Given the description of an element on the screen output the (x, y) to click on. 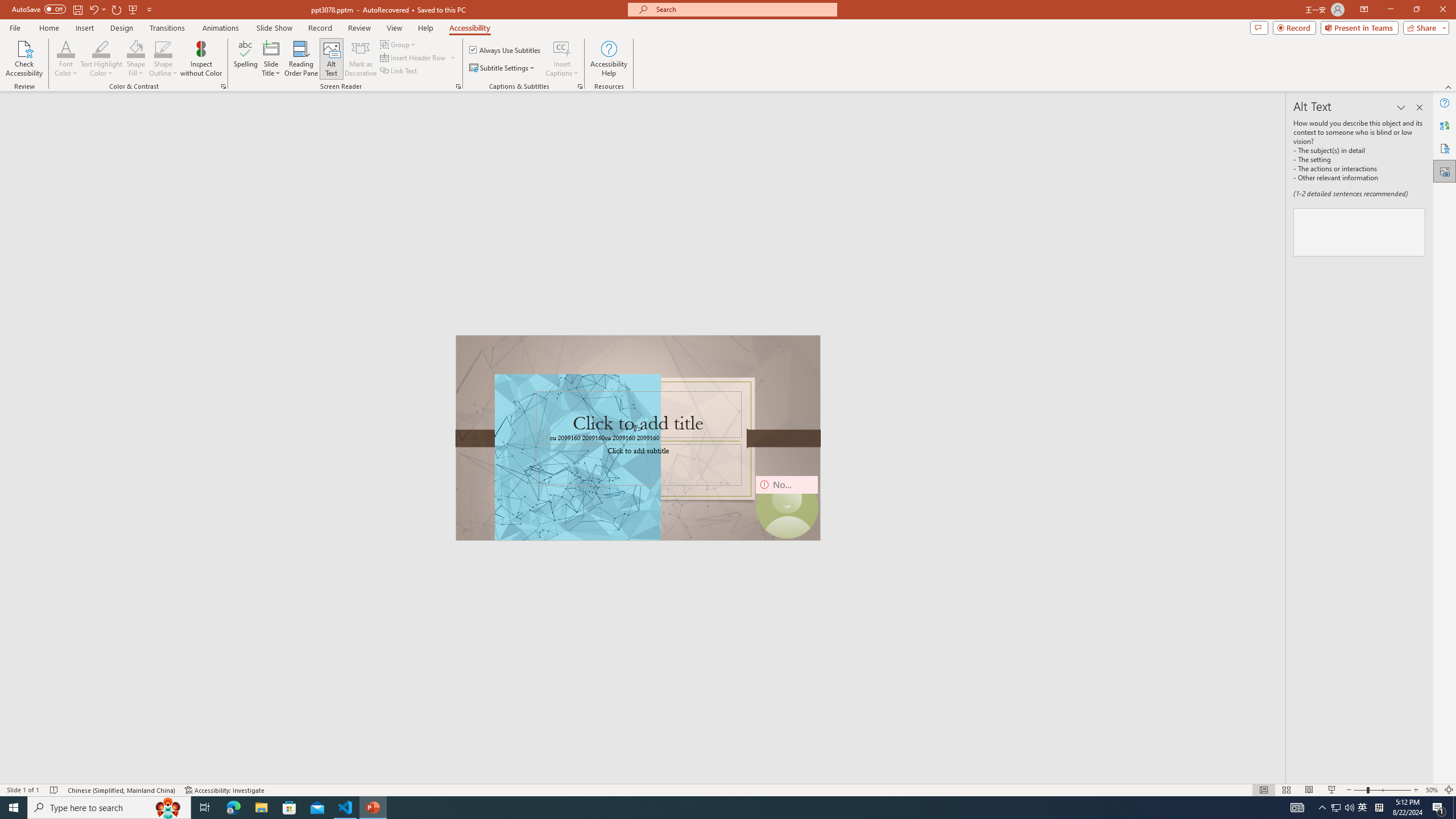
Mark as Decorative (360, 58)
Camera 9, No camera detected. (786, 506)
Insert Captions (561, 48)
Slide Title (271, 48)
Shape Fill (135, 58)
Font Color (65, 48)
